Given the description of an element on the screen output the (x, y) to click on. 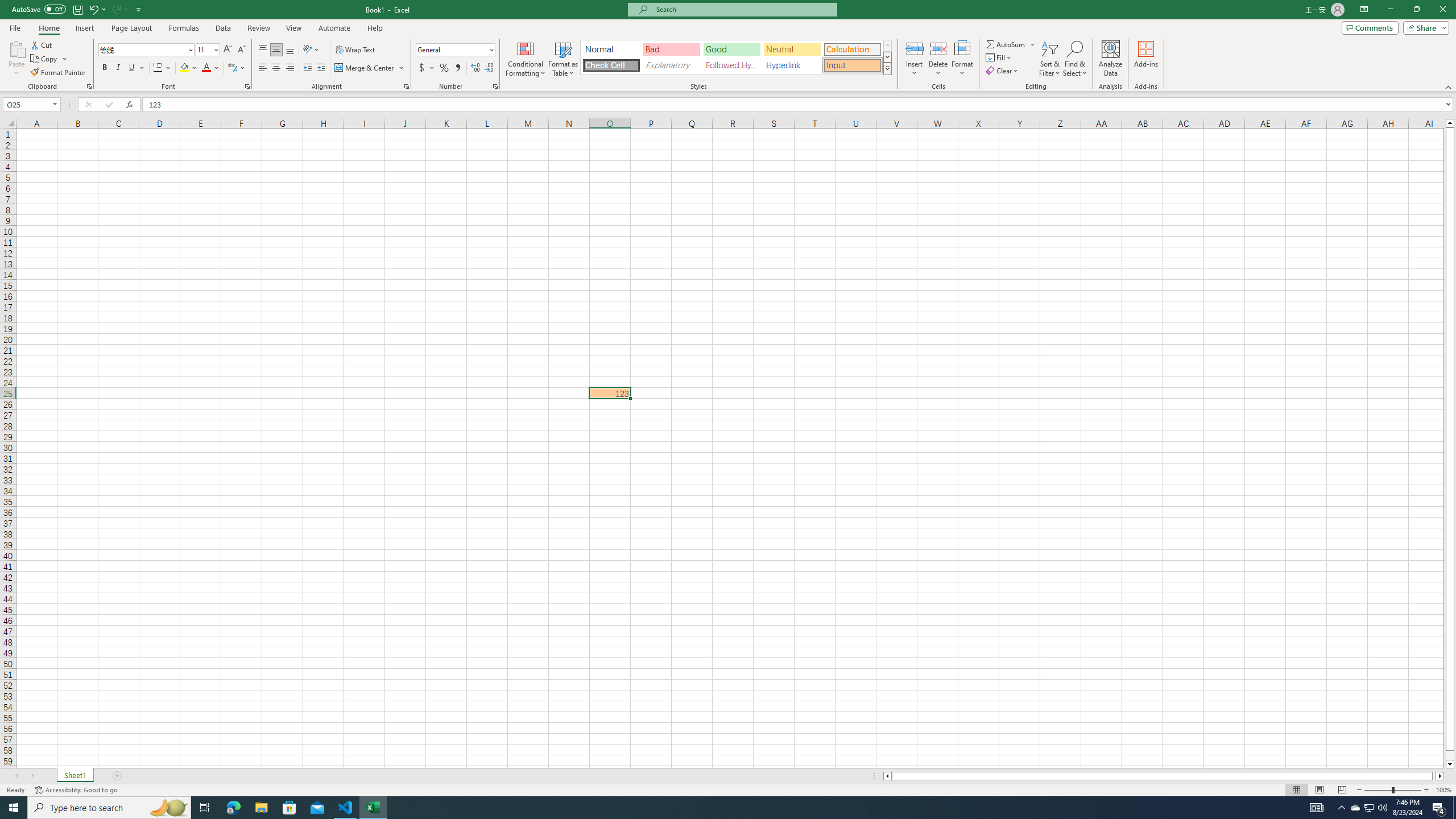
Number Format (451, 49)
Font Color (210, 67)
Show Phonetic Field (231, 67)
AutomationID: CellStylesGallery (736, 57)
Fill Color RGB(255, 255, 0) (183, 67)
Paste (16, 48)
Calculation (852, 49)
Hyperlink (791, 65)
Delete (938, 58)
